Given the description of an element on the screen output the (x, y) to click on. 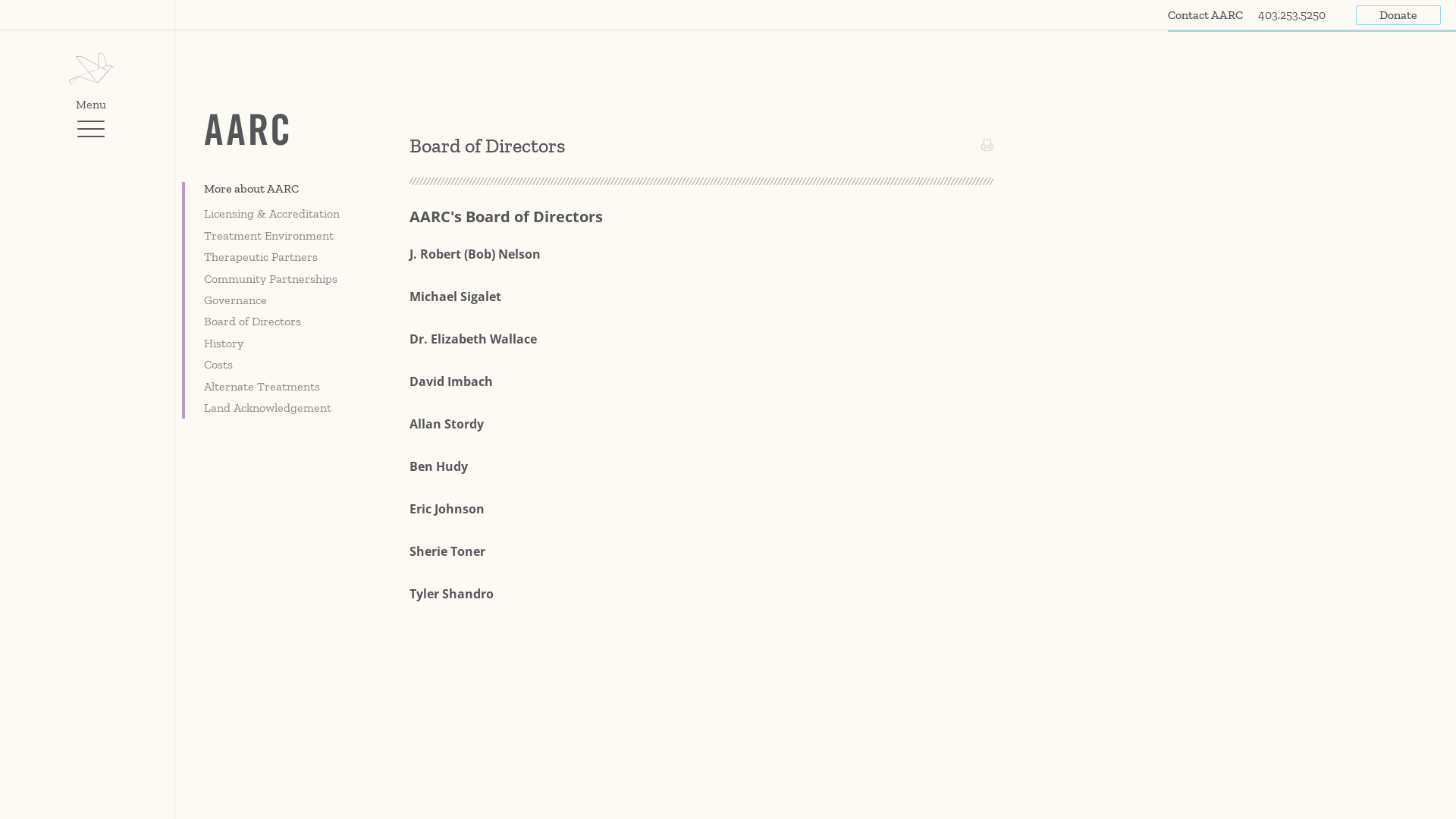
Alternate Treatments Element type: text (283, 386)
Treatment Environment Element type: text (283, 235)
Contact AARC Element type: text (1204, 14)
Board of Directors Element type: text (283, 321)
Donate Element type: text (1397, 15)
History Element type: text (283, 343)
Therapeutic Partners Element type: text (283, 256)
Community Partnerships Element type: text (283, 278)
Costs Element type: text (283, 364)
More about AARC Element type: text (283, 190)
Licensing & Accreditation Element type: text (283, 213)
Land Acknowledgement Element type: text (283, 407)
Governance Element type: text (283, 299)
